Given the description of an element on the screen output the (x, y) to click on. 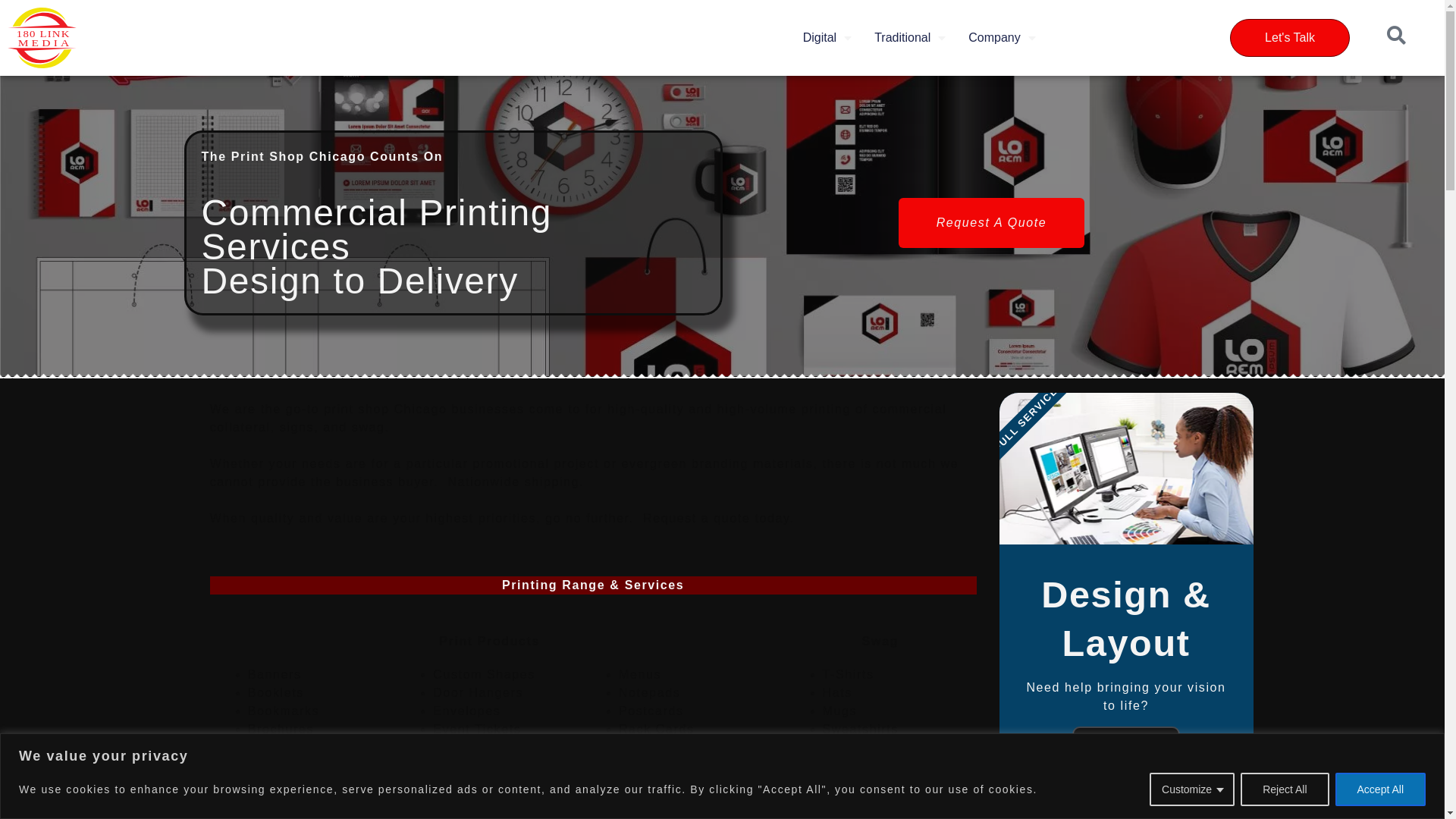
Let'S Talk Element type: text (1289, 37)
Company Element type: text (1001, 37)
Click Here Element type: text (1125, 742)
Traditional Element type: text (909, 37)
Digital Element type: text (827, 37)
Request A Quote Element type: text (991, 222)
